Given the description of an element on the screen output the (x, y) to click on. 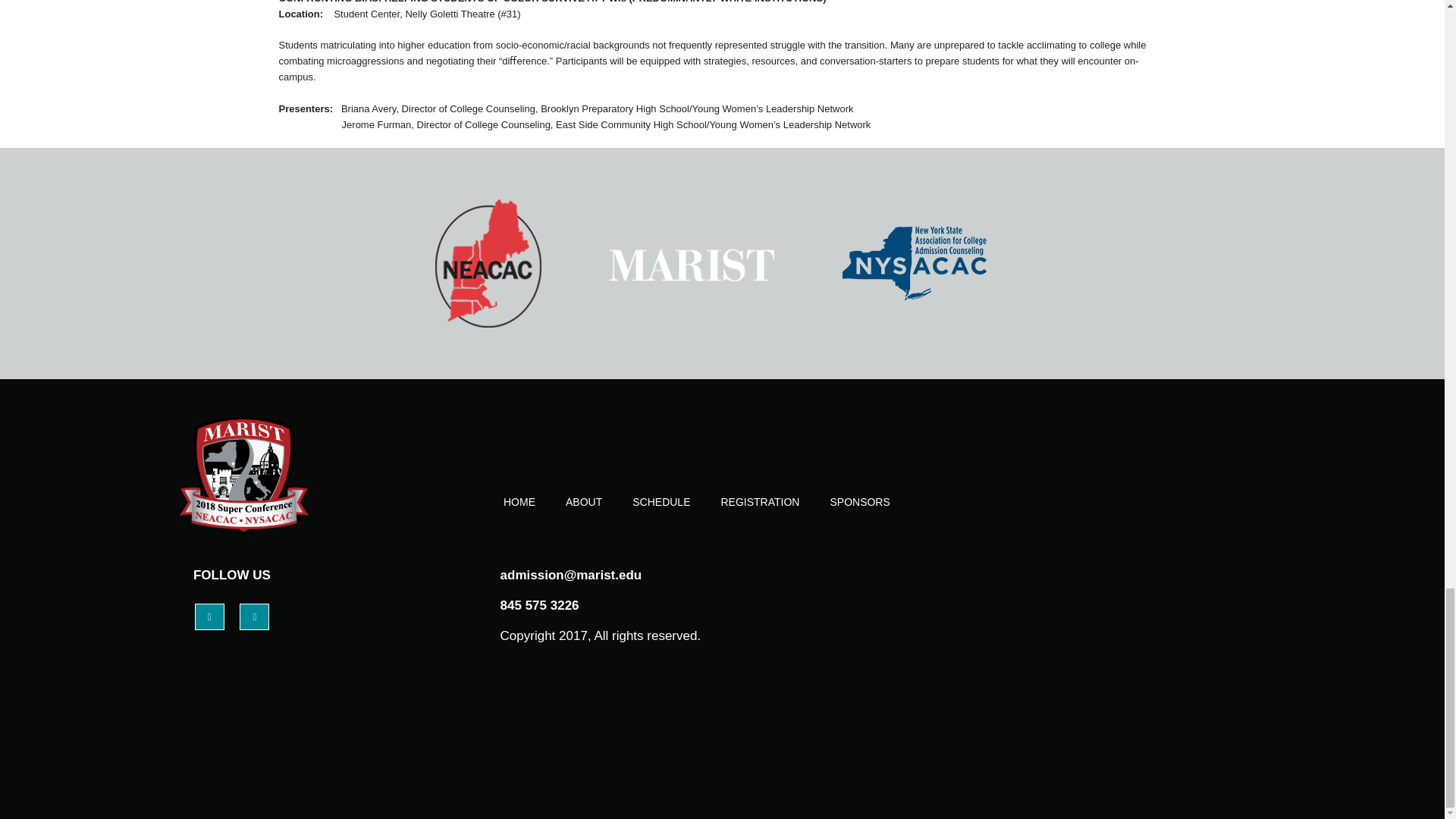
ABOUT (584, 501)
SCHEDULE (660, 501)
Ir a Admissions Super Conference (286, 476)
REGISTRATION (759, 501)
HOME (519, 501)
SPONSORS (859, 501)
